Given the description of an element on the screen output the (x, y) to click on. 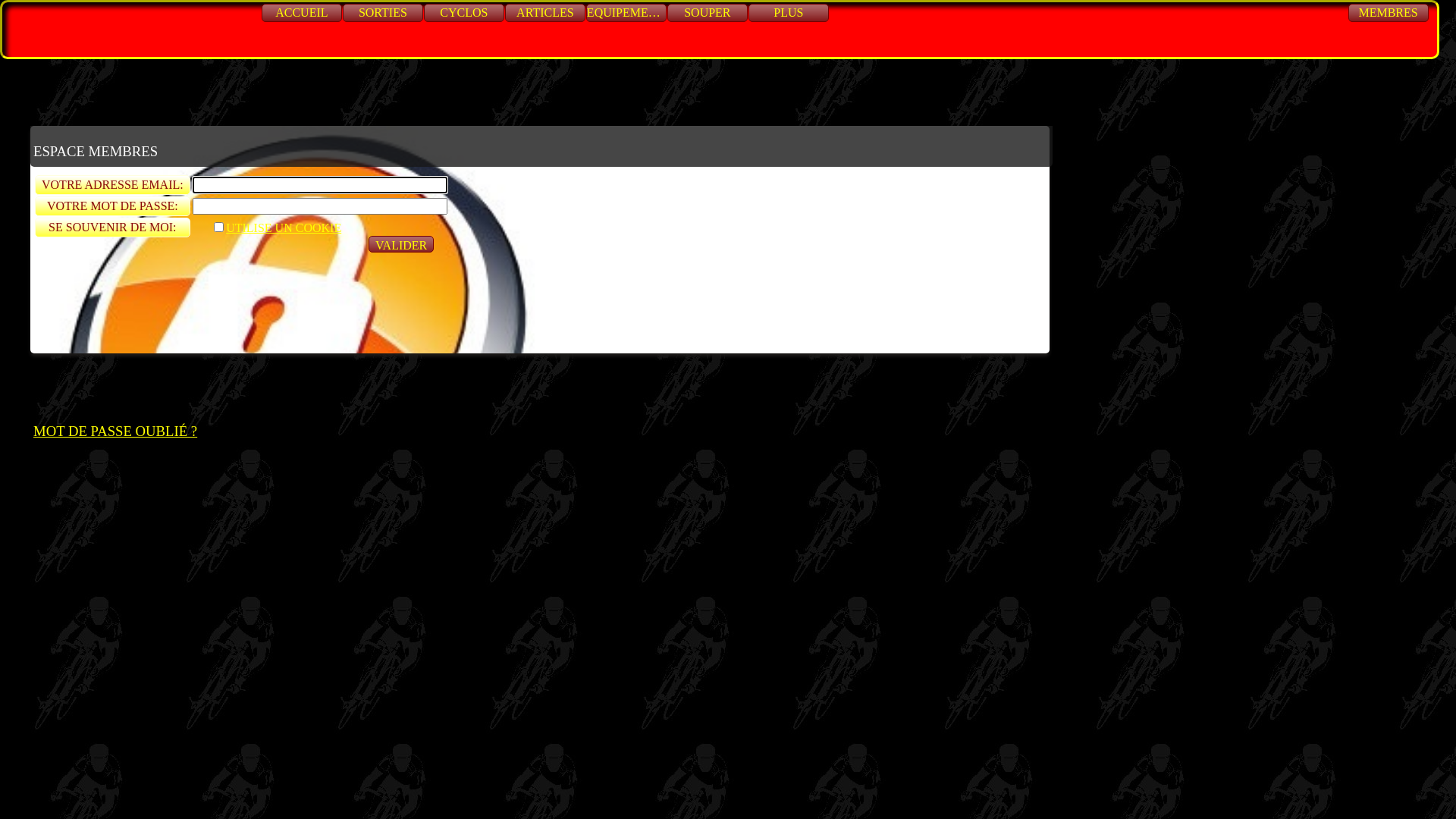
PLUS Element type: text (788, 12)
CYCLOS Element type: text (463, 12)
SORTIES Element type: text (382, 12)
ARTICLES Element type: text (545, 12)
EQUIPEMENTS Element type: text (626, 12)
UTILISE UN COOKIE Element type: text (275, 227)
ACCUEIL Element type: text (301, 12)
MEMBRES Element type: text (1388, 12)
Valider Element type: text (400, 243)
SOUPER Element type: text (707, 12)
